Given the description of an element on the screen output the (x, y) to click on. 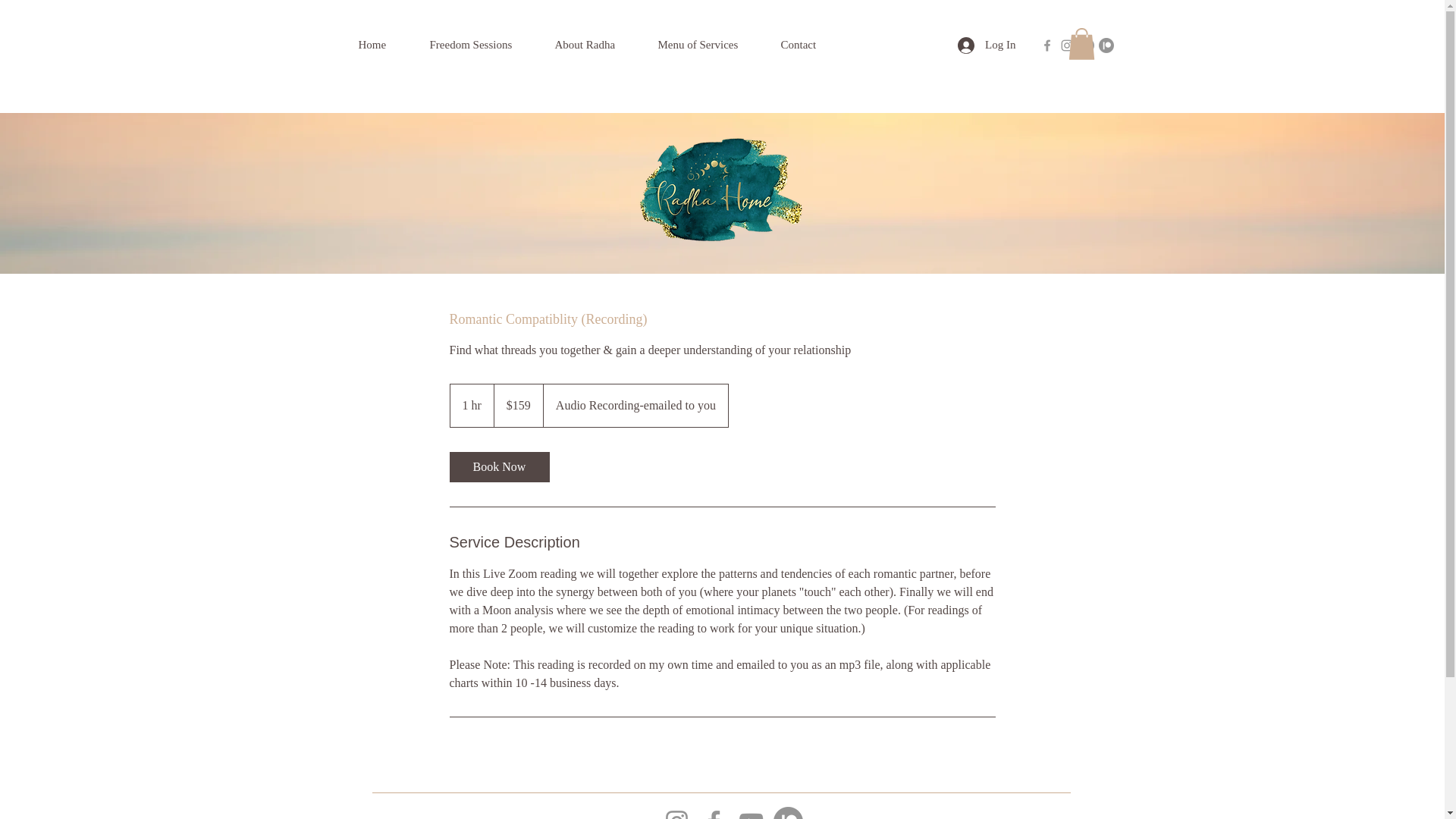
Freedom Sessions (484, 44)
Menu of Services (711, 44)
Contact (812, 44)
Home (386, 44)
About Radha (598, 44)
Log In (986, 45)
Book Now (498, 467)
